Given the description of an element on the screen output the (x, y) to click on. 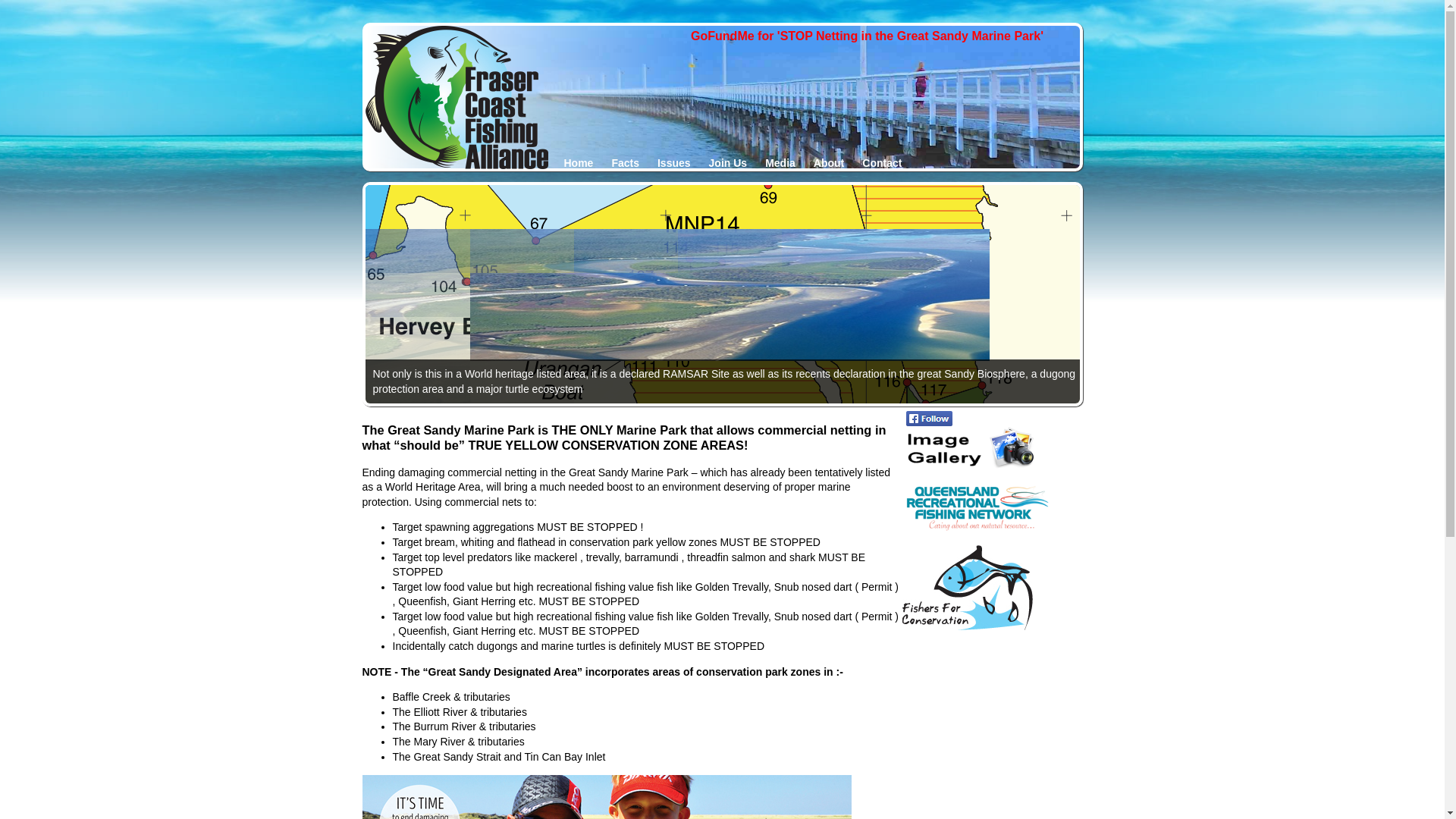
Home Element type: text (578, 166)
Issues Element type: text (673, 166)
Facts Element type: text (625, 166)
Join Us Element type: text (727, 166)
Contact Element type: text (881, 166)
Media Element type: text (780, 166)
GoFundMe for 'STOP Netting in the Great Sandy Marine Park' Element type: text (866, 35)
About Element type: text (828, 166)
